Given the description of an element on the screen output the (x, y) to click on. 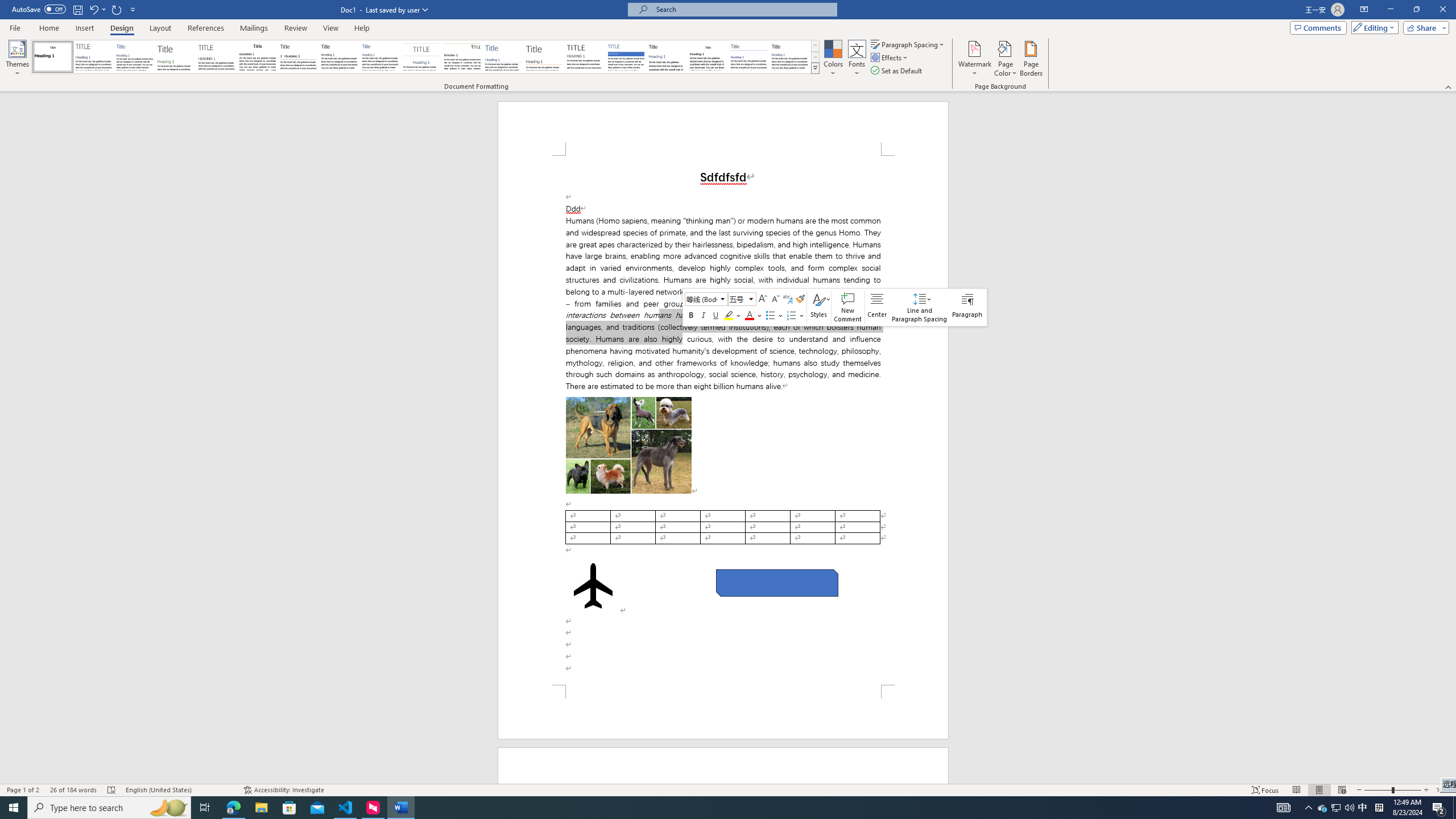
Undo Italic (92, 9)
Black & White (Capitalized) (216, 56)
Class: NetUIAnchor (919, 307)
Italic (703, 315)
